Given the description of an element on the screen output the (x, y) to click on. 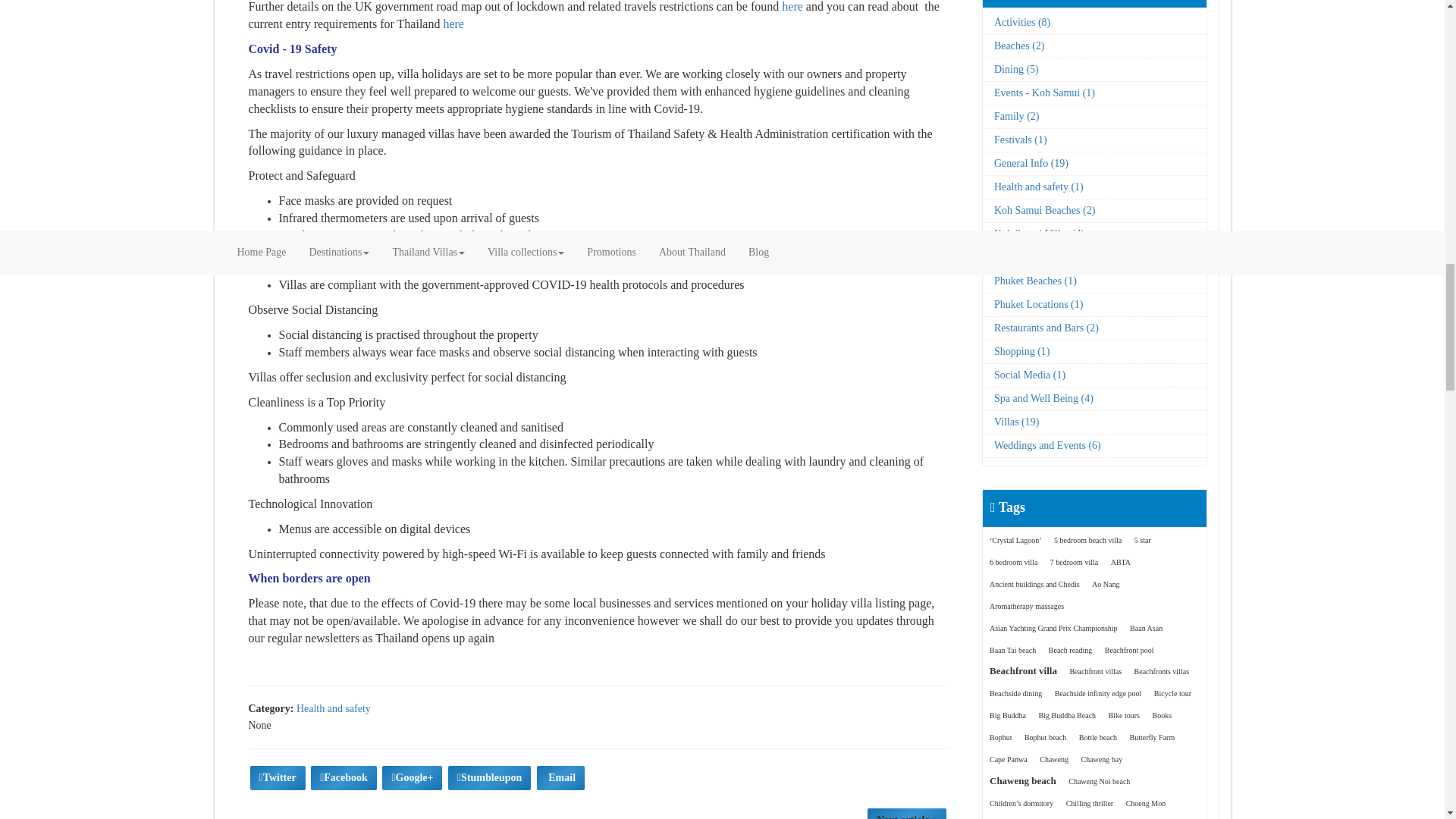
Share on StumbleUpon (489, 777)
Share on Twitter (277, 777)
Share on Facebook (343, 777)
Next article: Koh-Samui-Night-Life (906, 812)
Share via Email (560, 777)
Opens external link in new window (792, 6)
